Given the description of an element on the screen output the (x, y) to click on. 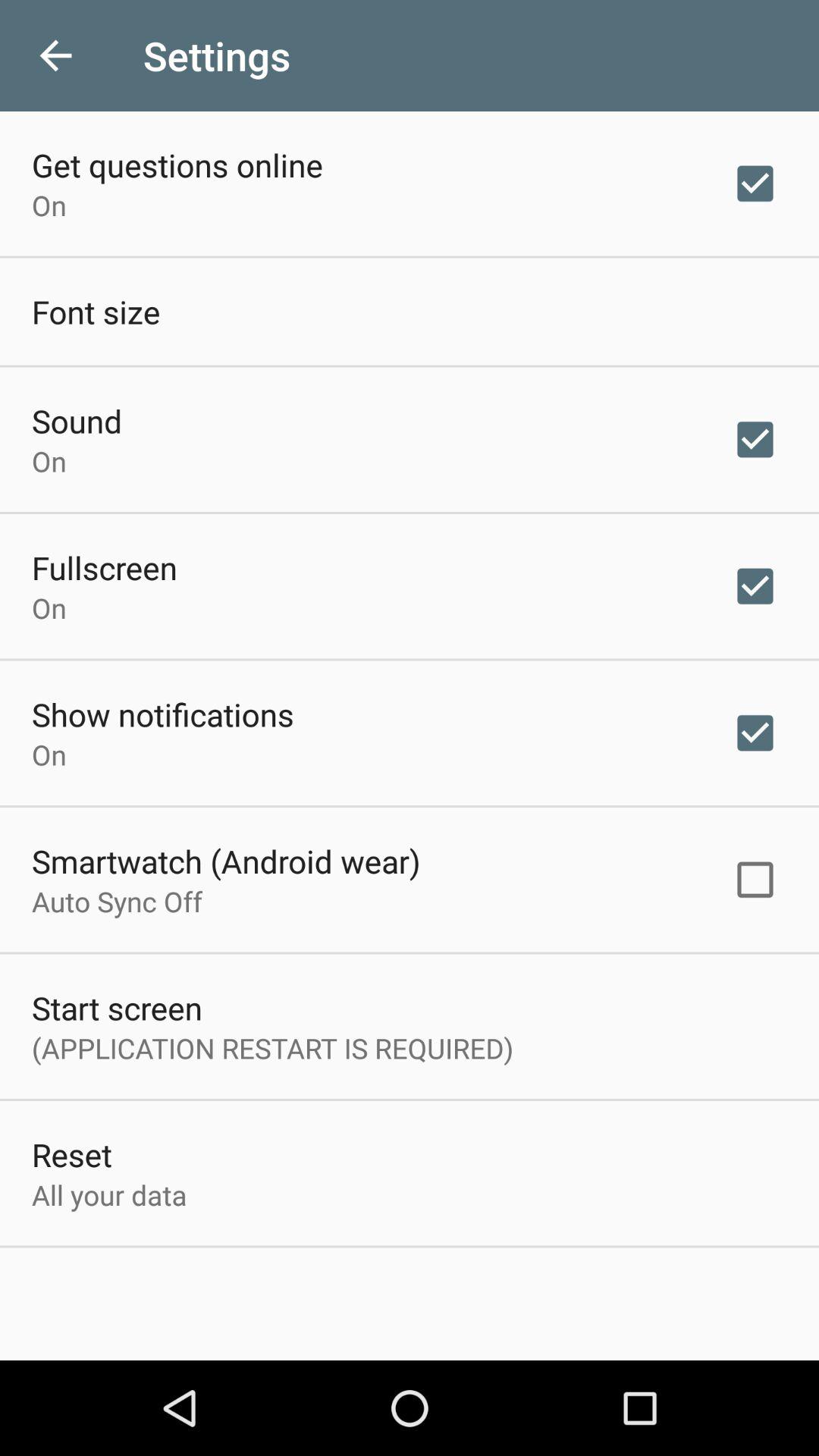
press item above the application restart is item (116, 1007)
